Given the description of an element on the screen output the (x, y) to click on. 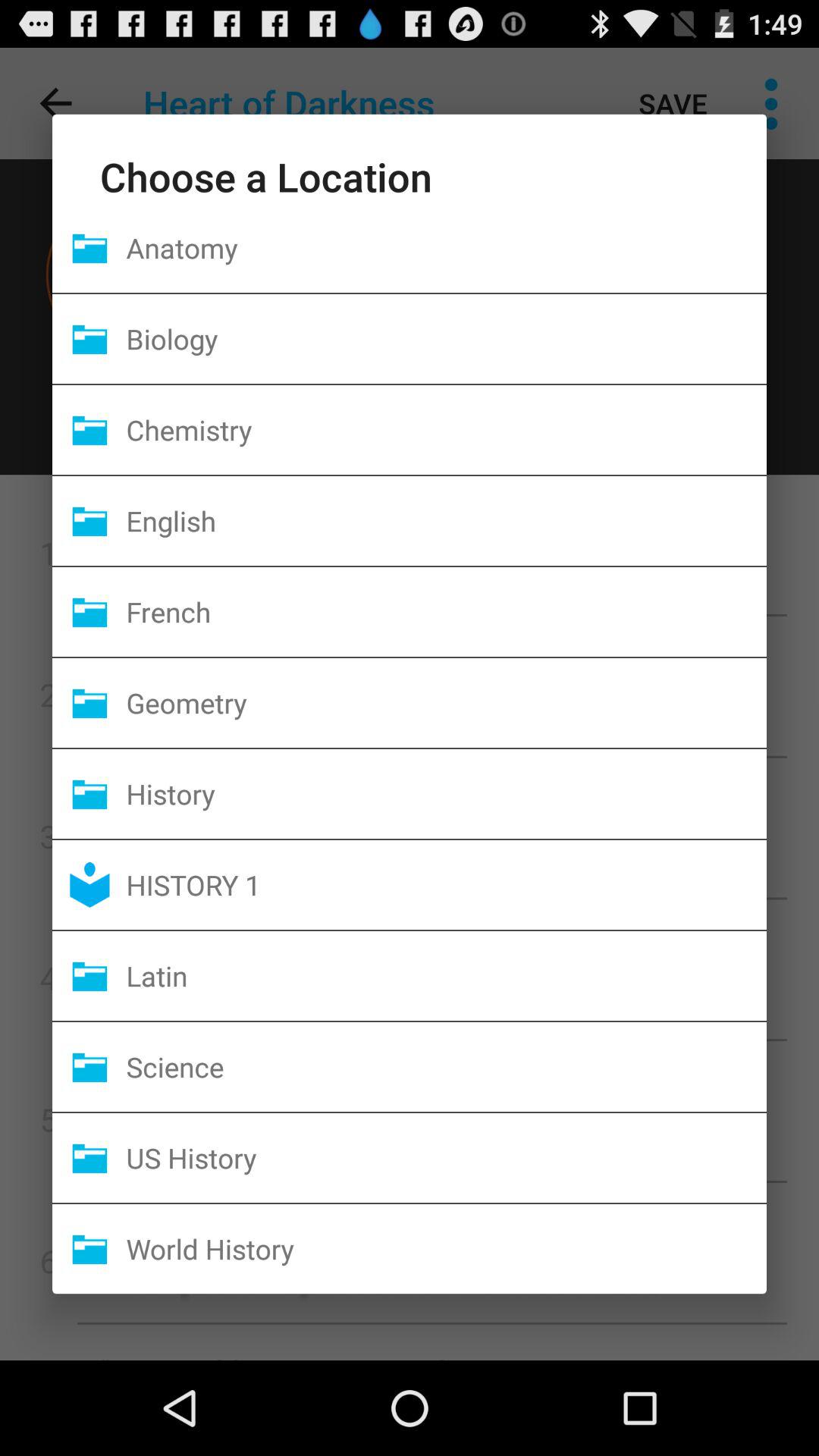
turn off the french (446, 611)
